Given the description of an element on the screen output the (x, y) to click on. 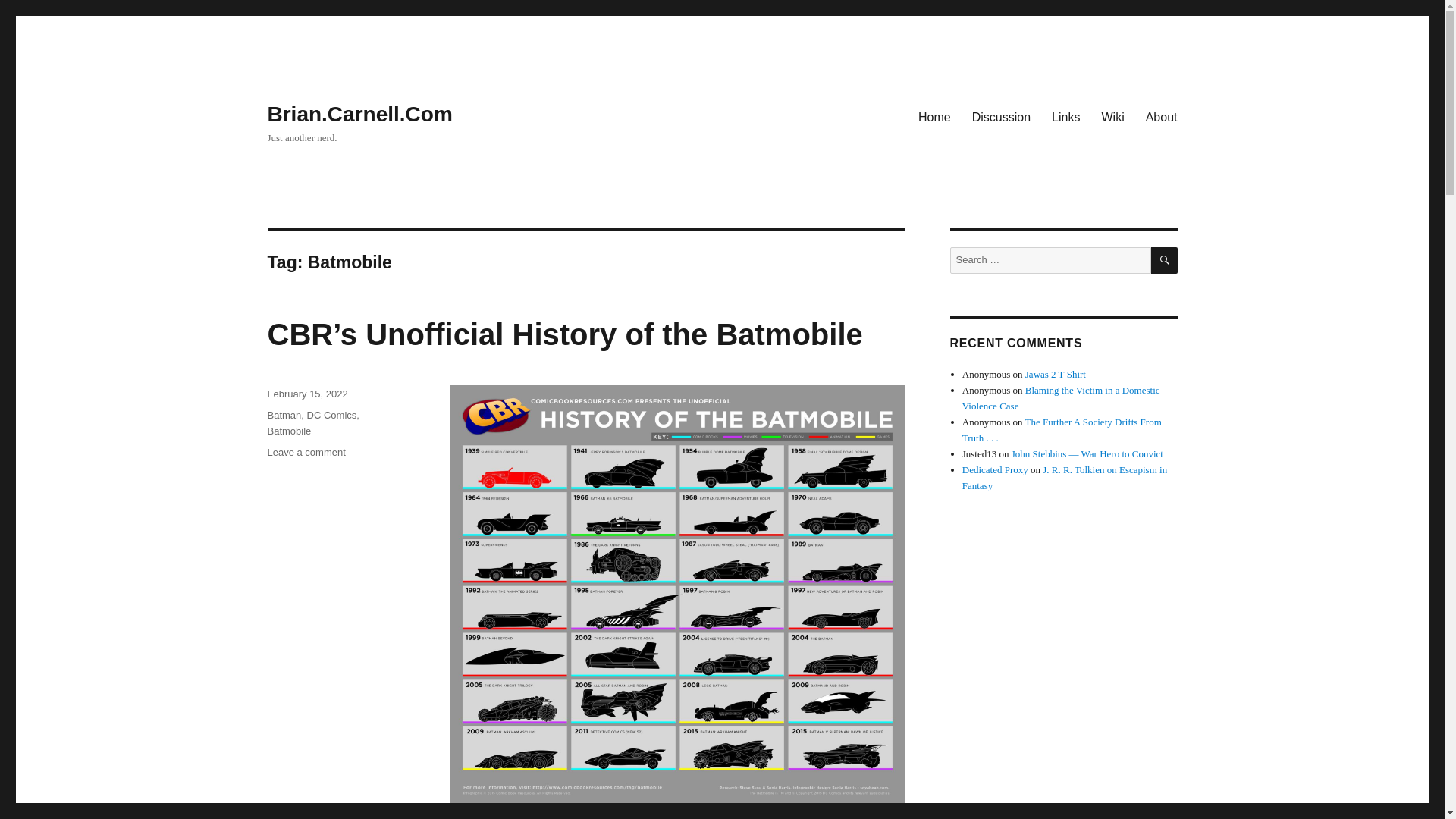
Wiki (1112, 116)
February 15, 2022 (306, 393)
Discussion (1000, 116)
Batmobile (288, 430)
DC Comics (331, 414)
Batman (283, 414)
About (1161, 116)
Brian.Carnell.Com (358, 114)
Home (933, 116)
Links (1065, 116)
